Given the description of an element on the screen output the (x, y) to click on. 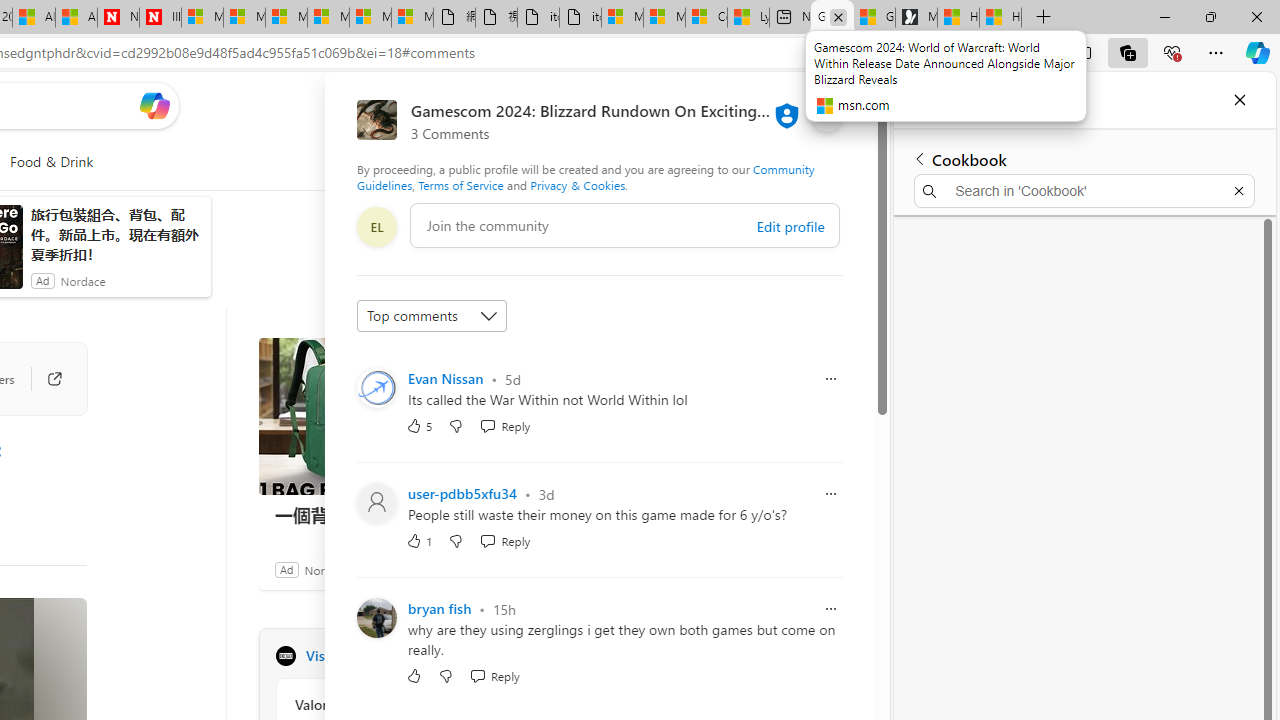
Search in 'Cookbook' (1084, 190)
comment-box (624, 225)
Sort comments by (431, 315)
5 Like (419, 425)
